Given the description of an element on the screen output the (x, y) to click on. 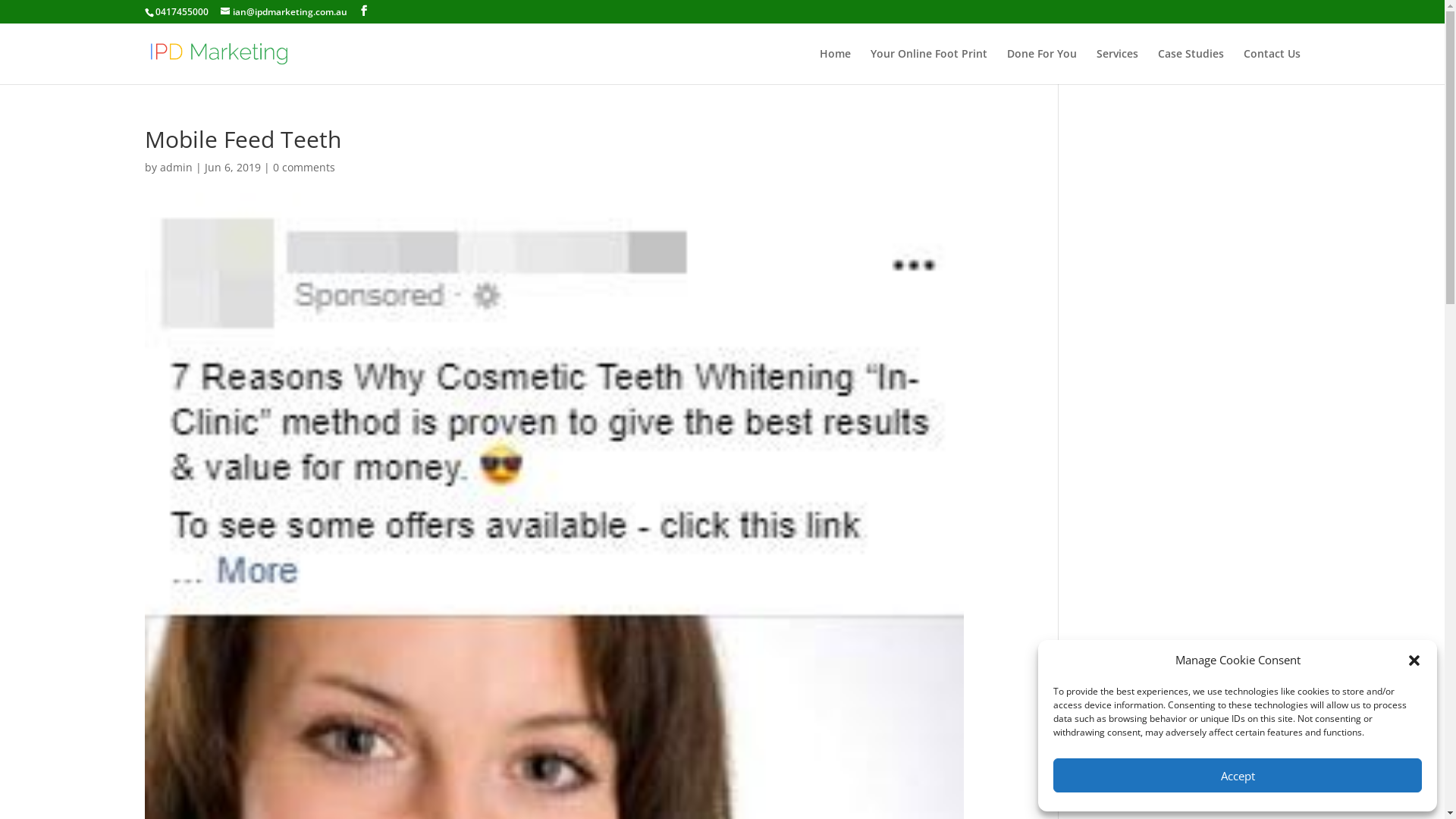
Done For You Element type: text (1041, 66)
ian@ipdmarketing.com.au Element type: text (282, 11)
Services Element type: text (1117, 66)
admin Element type: text (175, 167)
Accept Element type: text (1237, 775)
0 comments Element type: text (304, 167)
Case Studies Element type: text (1190, 66)
Your Online Foot Print Element type: text (928, 66)
Contact Us Element type: text (1271, 66)
Home Element type: text (834, 66)
